Given the description of an element on the screen output the (x, y) to click on. 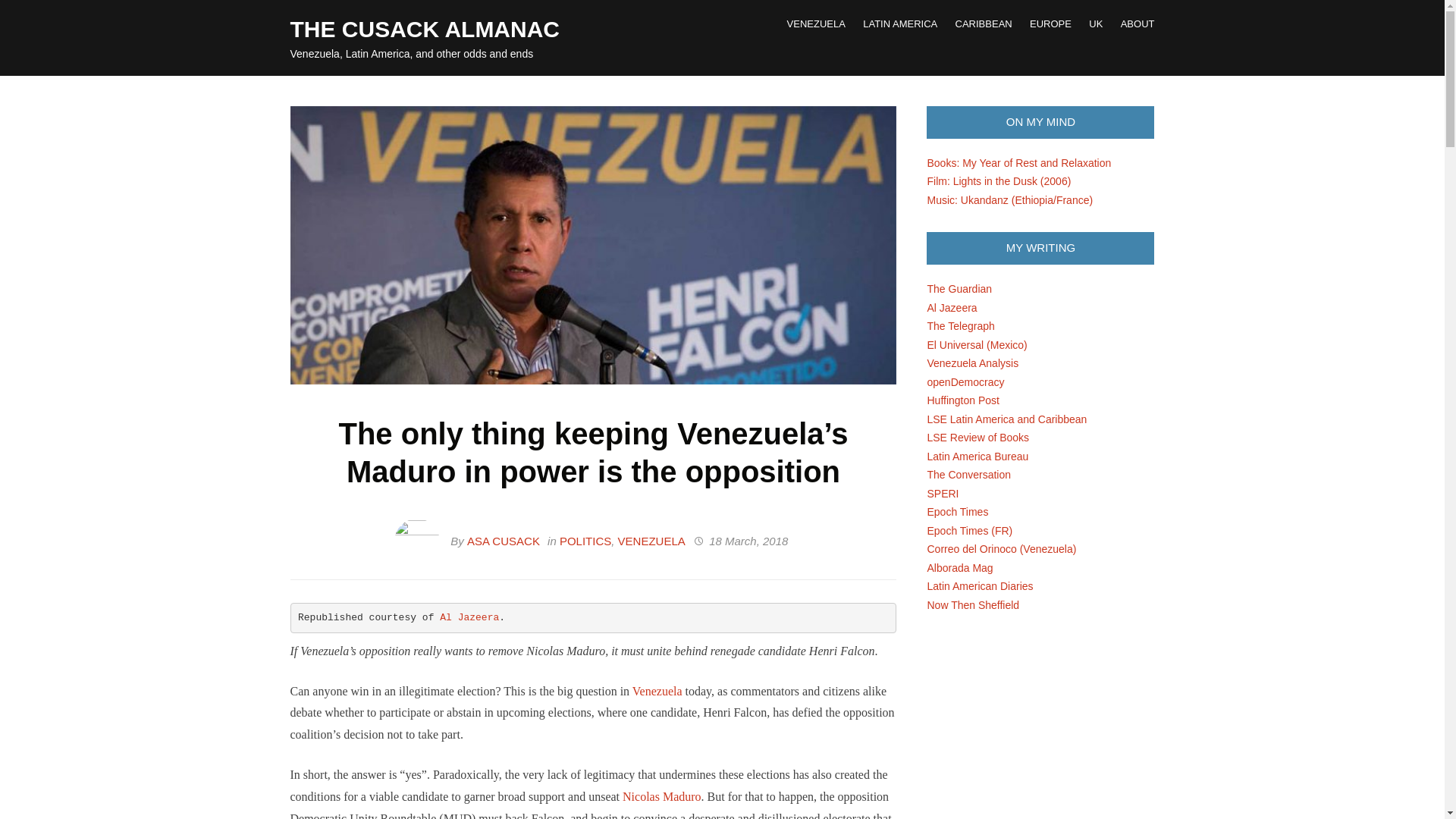
Nicolas Maduro (662, 796)
Venezuela (656, 690)
LATIN AMERICA (900, 24)
VENEZUELA (816, 24)
ASA CUSACK (503, 540)
CARIBBEAN (983, 24)
Posts by Asa Cusack (503, 540)
VENEZUELA (651, 540)
THE CUSACK ALMANAC (424, 28)
Al Jazeera (469, 617)
